Given the description of an element on the screen output the (x, y) to click on. 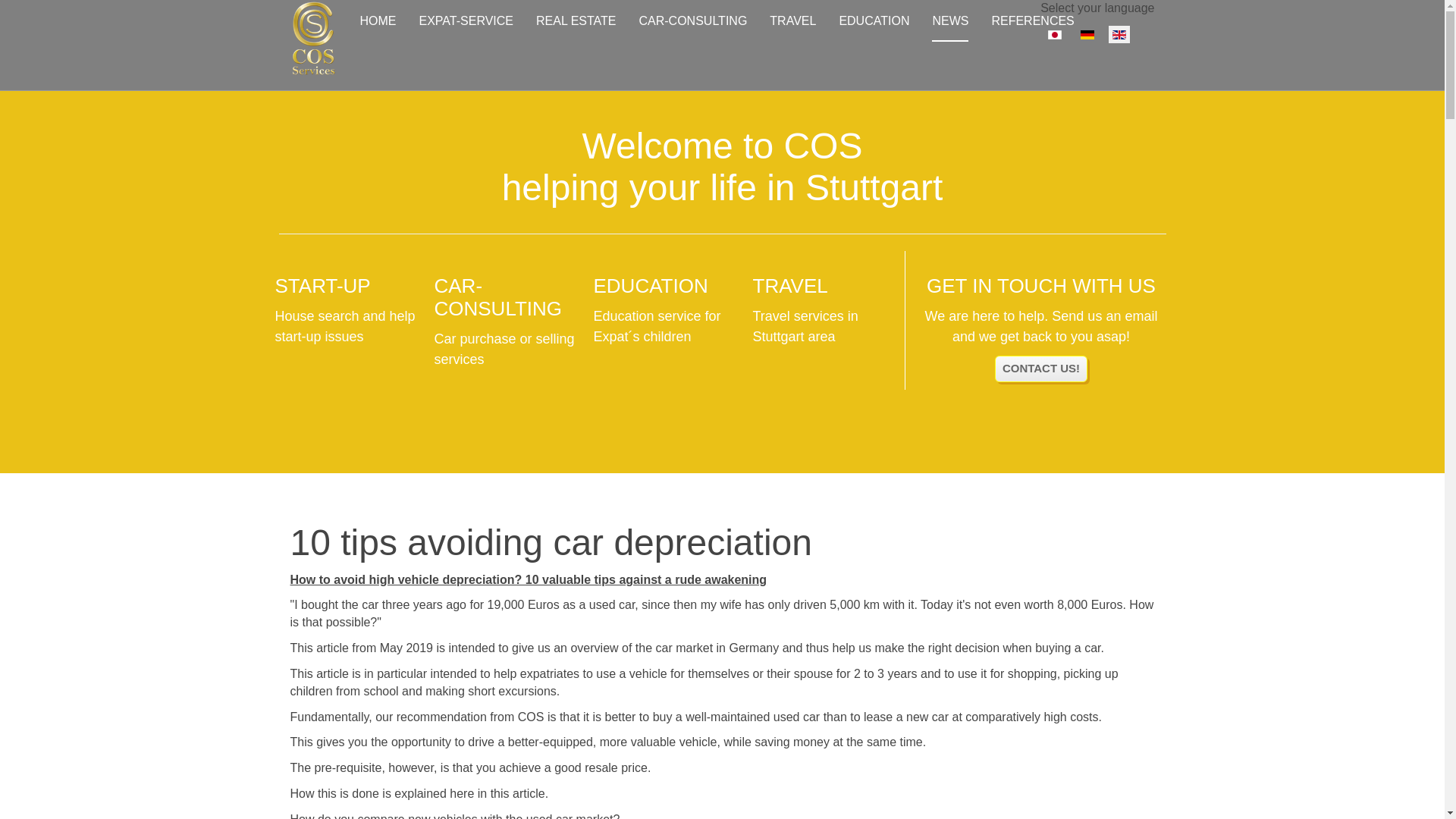
COS-Services (312, 20)
Your Start-Up with COS-Services! (347, 311)
REAL ESTATE (575, 20)
EDUCATION (873, 20)
REFERENCES (1032, 20)
CAR-CONSULTING (692, 20)
CONTACT US! (1040, 368)
EXPAT-SERVICE (465, 20)
COS-Services - education (664, 311)
COS-Services Car-Consulting (505, 322)
